Given the description of an element on the screen output the (x, y) to click on. 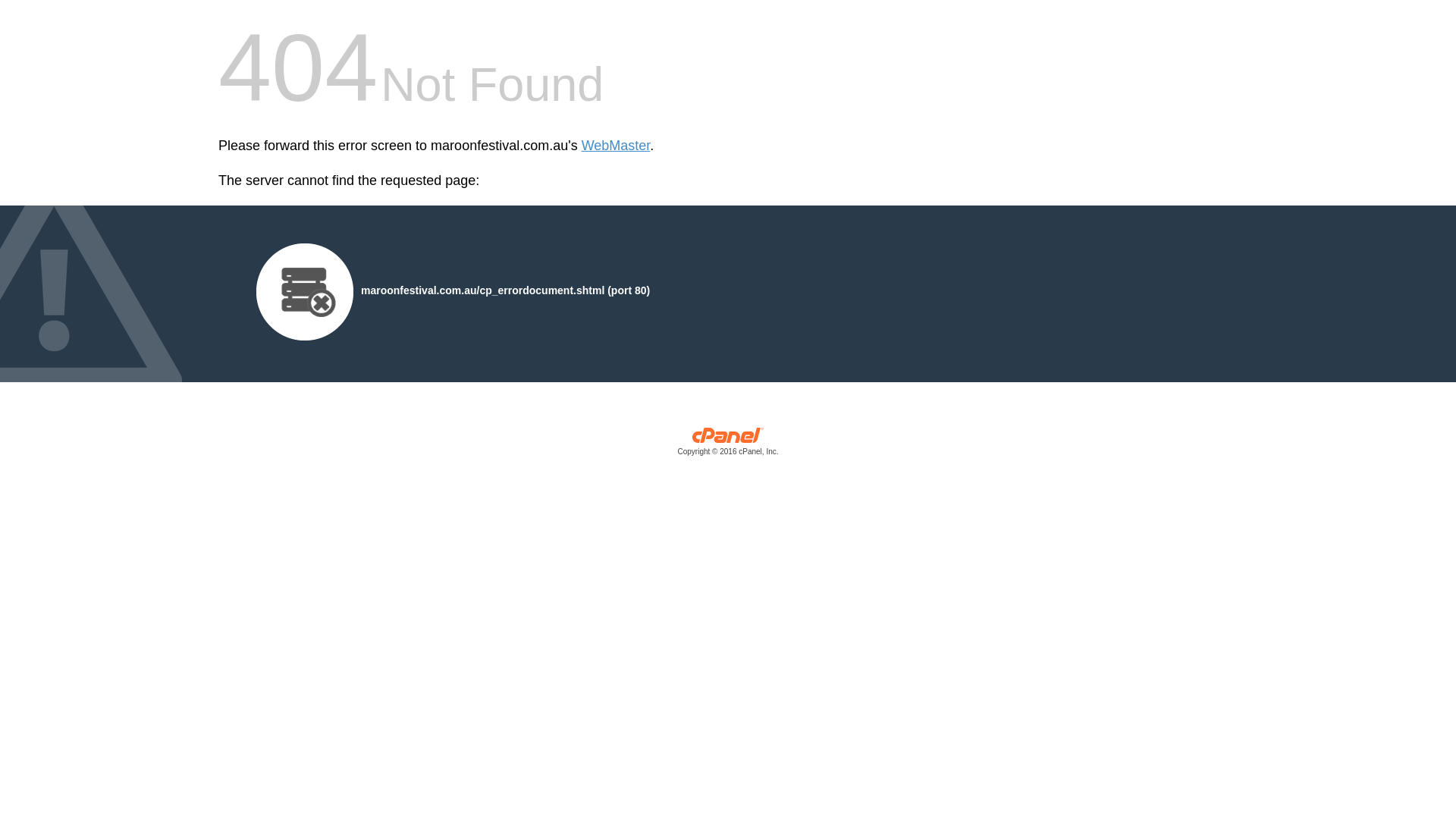
WebMaster Element type: text (615, 145)
